Given the description of an element on the screen output the (x, y) to click on. 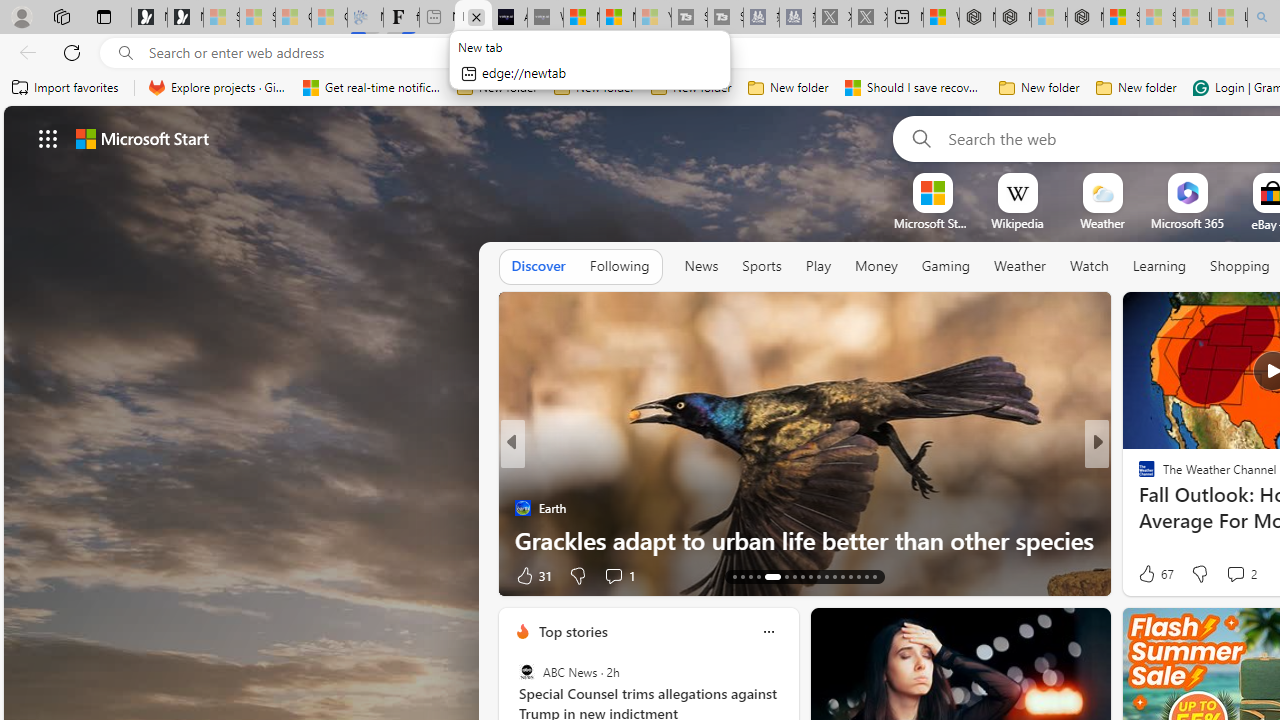
AutomationID: tab-26 (818, 576)
Following (619, 267)
News (701, 267)
Learning (1159, 265)
View comments 124 Comment (1234, 575)
Streaming Coverage | T3 - Sleeping (689, 17)
AutomationID: tab-28 (833, 576)
AutomationID: tab-41 (857, 576)
Nordace.com (1165, 507)
View comments 4 Comment (1229, 575)
View comments 11 Comment (1234, 575)
